Given the description of an element on the screen output the (x, y) to click on. 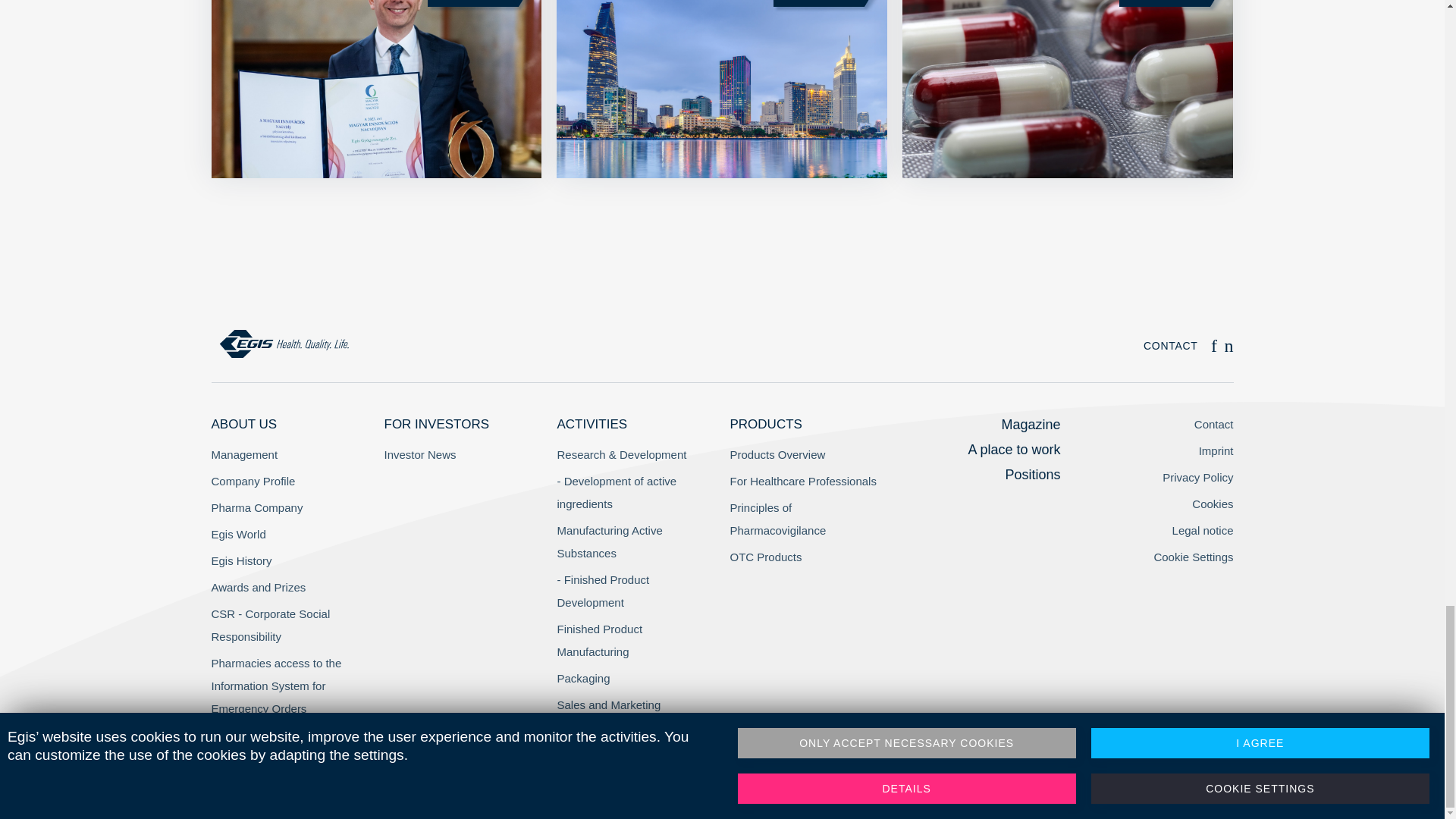
Home (283, 343)
